Given the description of an element on the screen output the (x, y) to click on. 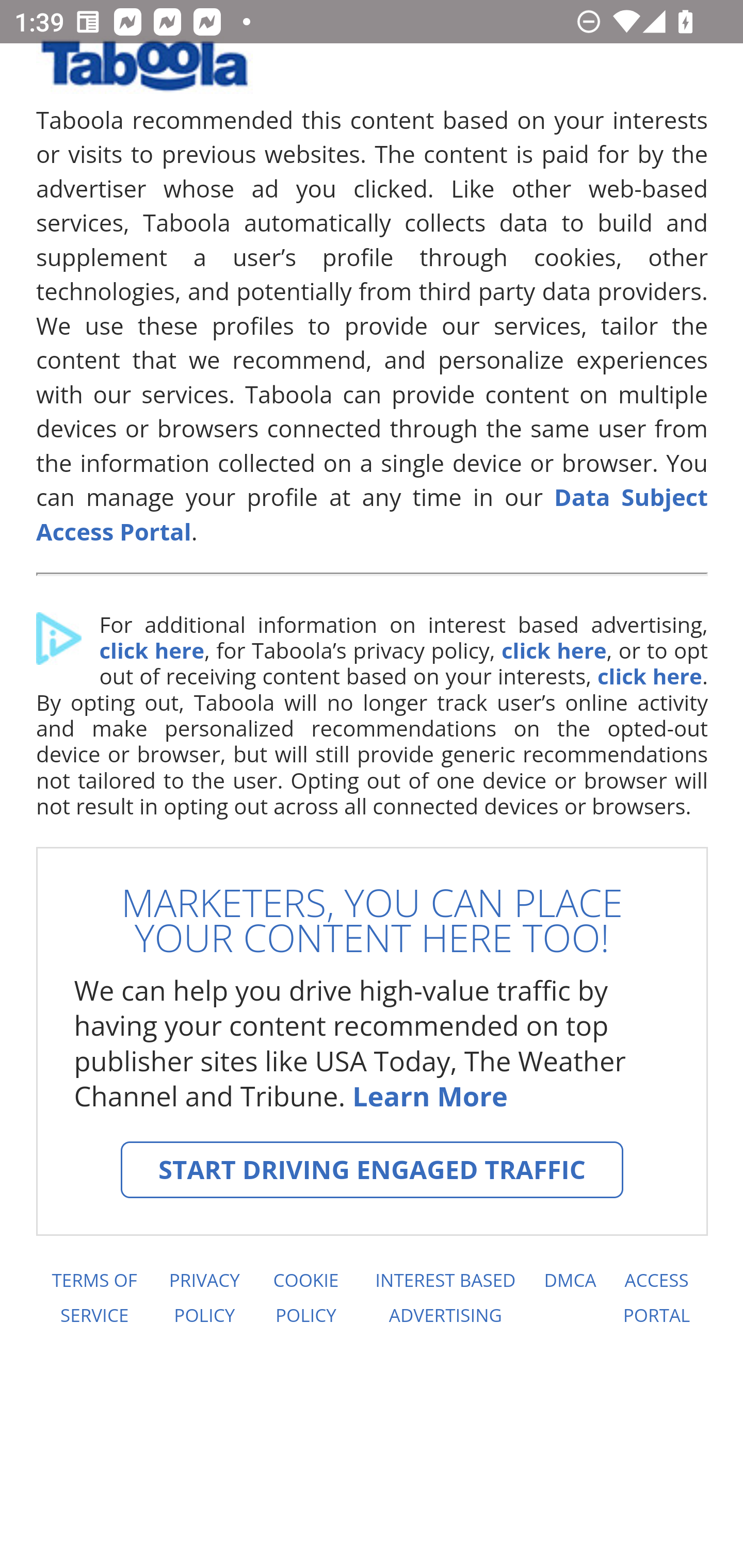
Taboola (144, 73)
Data Subject Access Portal (372, 513)
click here (151, 650)
click here (553, 650)
click here (648, 676)
Learn More (429, 1095)
START DRIVING ENGAGED TRAFFIC (371, 1169)
TERMS OF SERVICE (93, 1298)
PRIVACY POLICY (203, 1298)
COOKIE POLICY (305, 1298)
INTEREST BASED ADVERTISING (445, 1298)
DMCA (570, 1298)
ACCESS PORTAL (656, 1298)
